Given the description of an element on the screen output the (x, y) to click on. 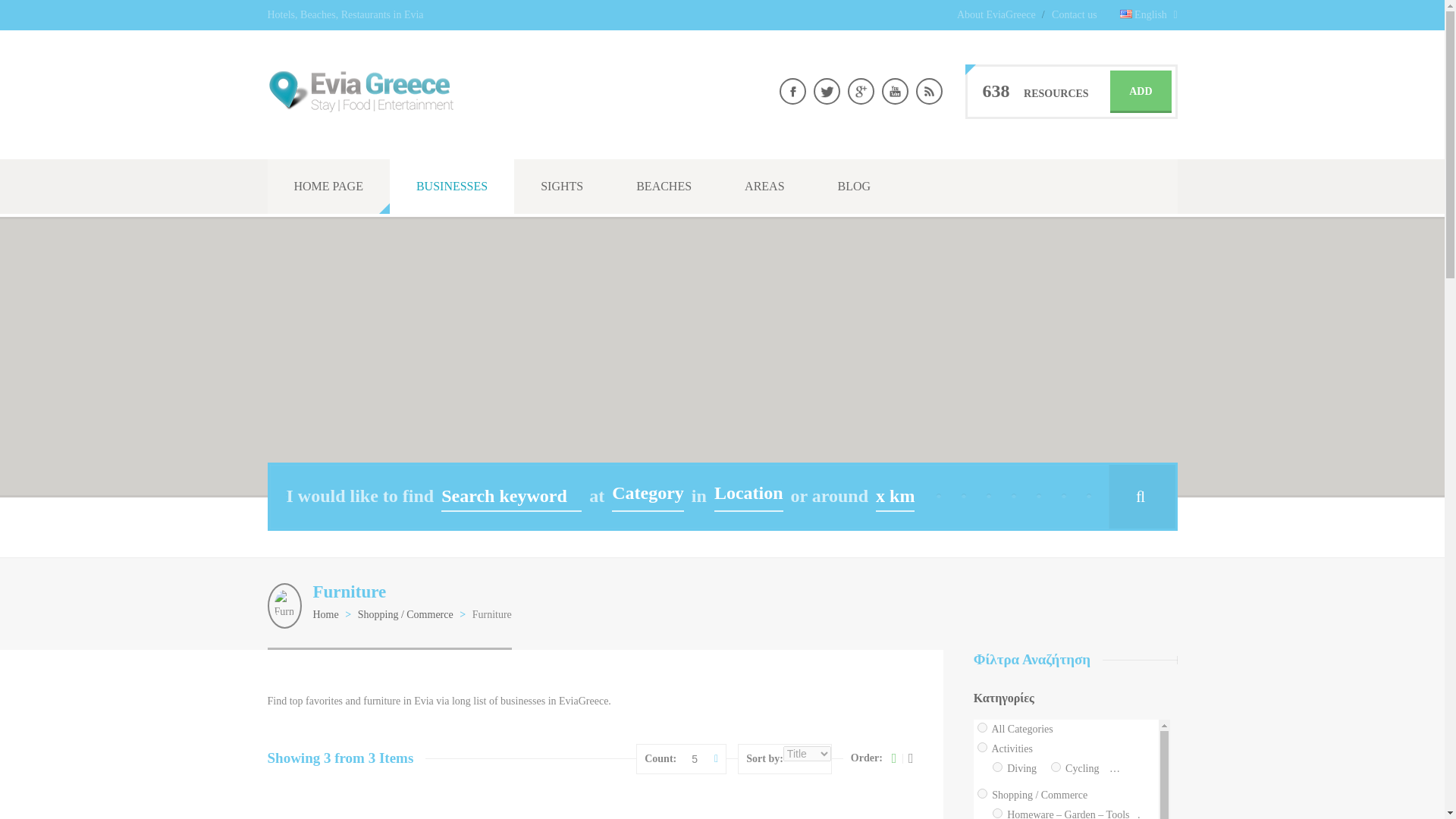
511 (1056, 767)
509 (997, 767)
1481 (1429, 813)
BUSINESSES (451, 185)
515 (997, 813)
517 (1147, 813)
519 (1264, 813)
EviaGreece (360, 107)
521 (1332, 813)
ADD (1139, 91)
Contact us (1074, 14)
507 (981, 747)
909 (1117, 767)
0 (981, 727)
English (1148, 14)
